Given the description of an element on the screen output the (x, y) to click on. 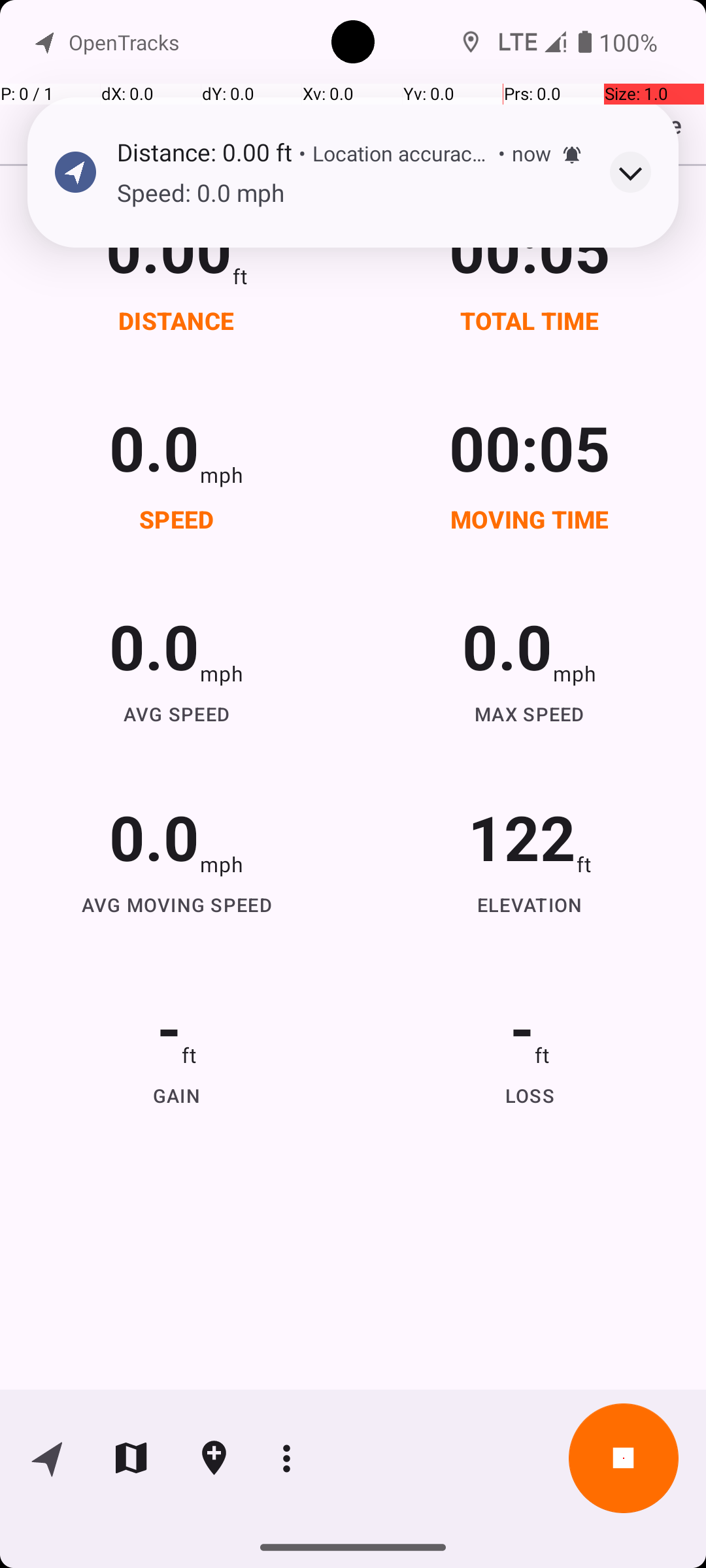
0.00 Element type: android.widget.TextView (168, 248)
00:05 Element type: android.widget.TextView (529, 248)
122 Element type: android.widget.TextView (521, 836)
Distance: 0.00 ft Element type: android.widget.TextView (204, 151)
Location accuracy: 16.40 ft Element type: android.widget.TextView (401, 153)
